Given the description of an element on the screen output the (x, y) to click on. 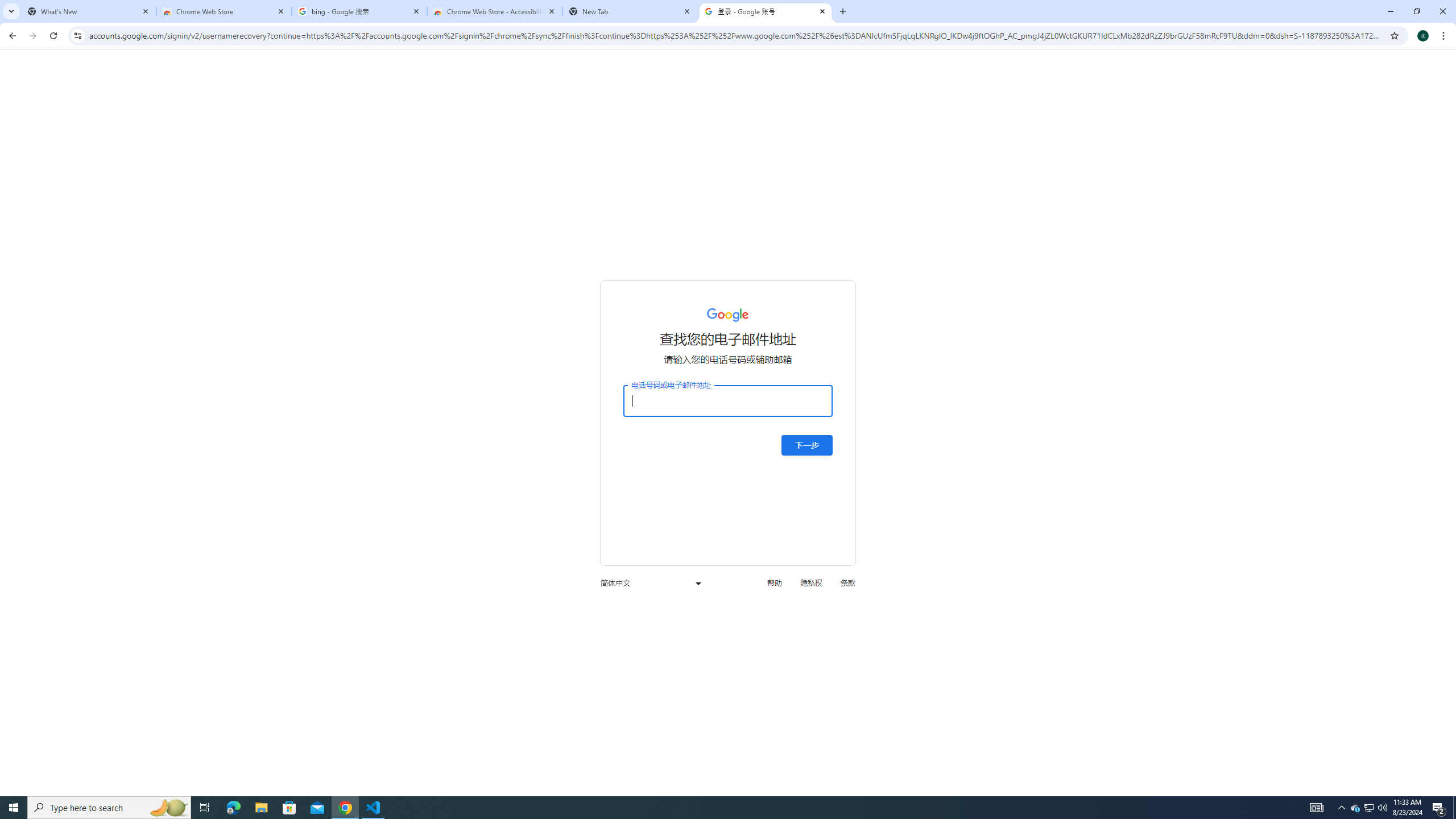
Restrict Editing (1328, 92)
Undo Apply Quick Style Set (159, 18)
Show Comments (820, 91)
Simplified (568, 72)
